Given the description of an element on the screen output the (x, y) to click on. 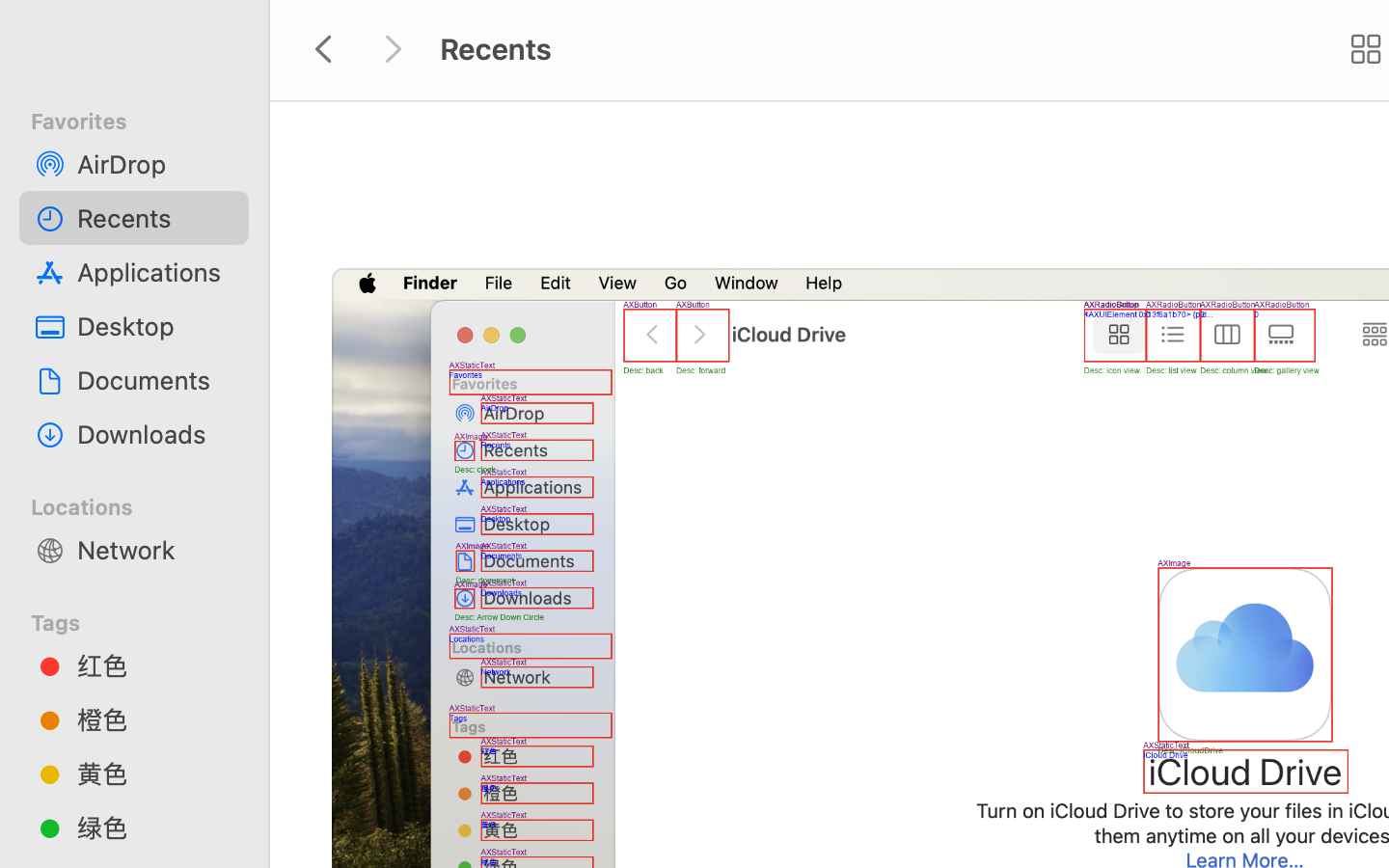
黄色 Element type: AXStaticText (155, 773)
Favorites Element type: AXStaticText (145, 118)
Documents Element type: AXStaticText (155, 379)
Applications Element type: AXStaticText (155, 271)
Downloads Element type: AXStaticText (155, 433)
